Given the description of an element on the screen output the (x, y) to click on. 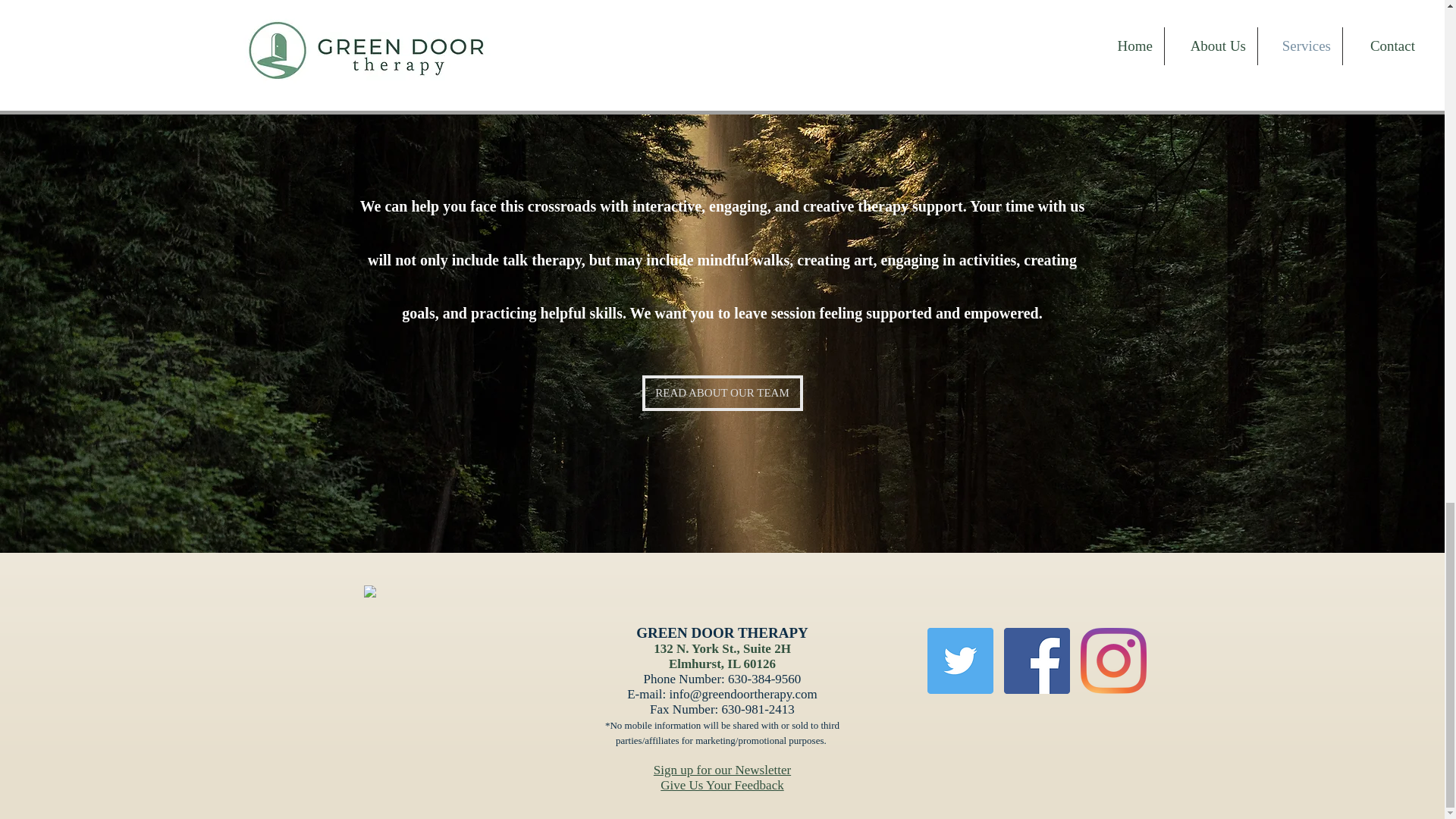
Client Portal (405, 9)
Sign up for our Newsletter (721, 769)
Embedded Content (452, 660)
READ ABOUT OUR TEAM (722, 393)
Give Us Your Feedback (722, 785)
